Given the description of an element on the screen output the (x, y) to click on. 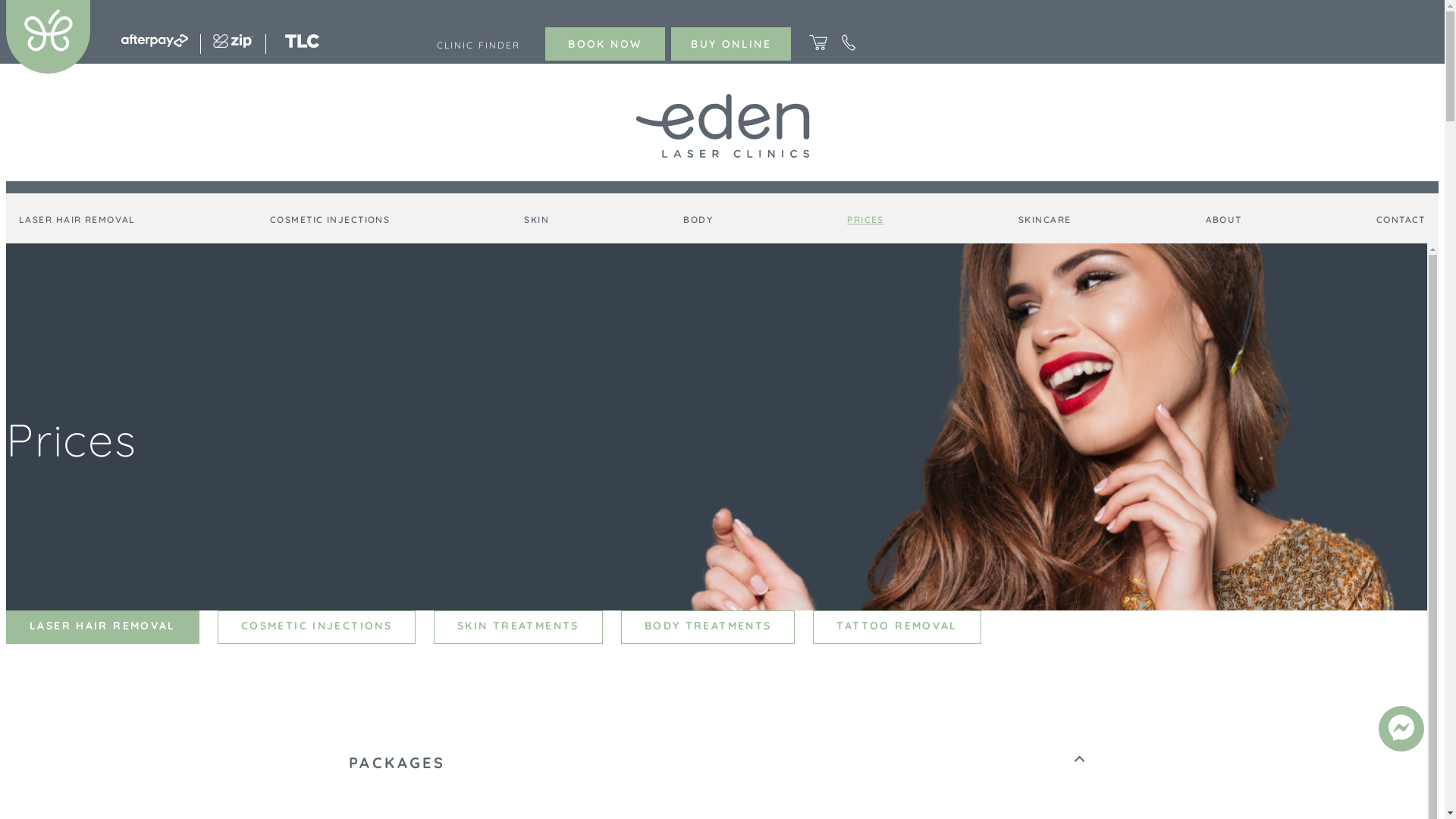
Zip Pay Element type: hover (233, 42)
CONTACT Element type: text (1400, 221)
Call Element type: hover (848, 46)
SKINCARE Element type: text (1044, 221)
SKIN TREATMENTS Element type: text (517, 626)
ABOUT Element type: text (1223, 221)
BODY TREATMENTS Element type: text (708, 626)
BUY ONLINE Element type: text (730, 43)
LASER HAIR REMOVAL Element type: text (77, 221)
Eden Laser Clinics Element type: hover (722, 127)
BODY Element type: text (697, 221)
COSMETIC INJECTIONS Element type: text (329, 221)
BOOK NOW Element type: text (605, 43)
Afterpay Element type: hover (154, 42)
COSMETIC INJECTIONS Element type: text (316, 626)
CLINIC FINDER Element type: text (478, 44)
TATTOO REMOVAL Element type: text (896, 626)
PRICES Element type: text (865, 221)
Eden Laser Clinics Element type: hover (48, 68)
LASER HAIR REMOVAL Element type: text (102, 626)
TLC Element type: hover (302, 42)
SKIN Element type: text (536, 221)
